Given the description of an element on the screen output the (x, y) to click on. 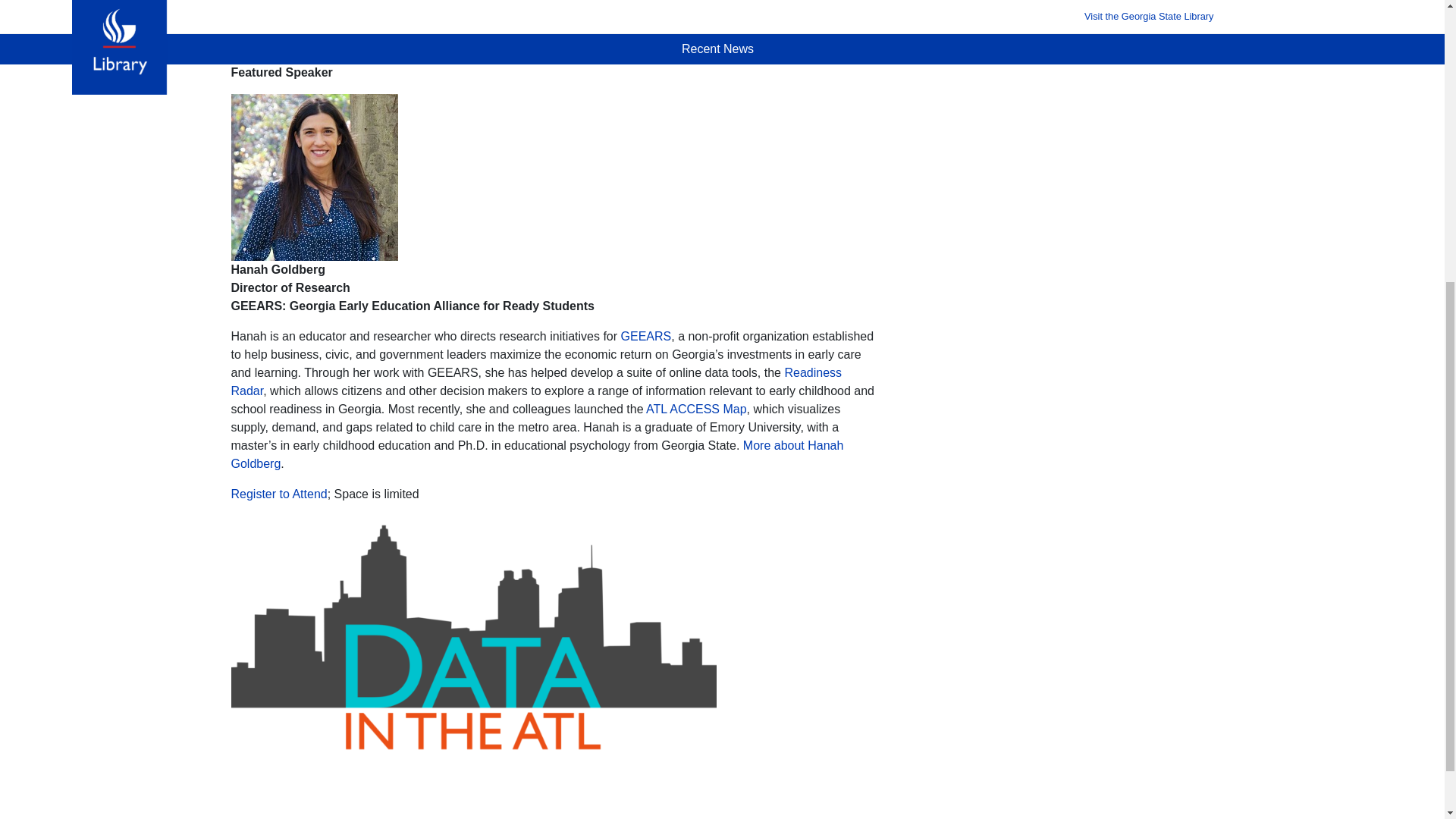
Readiness Radar (535, 381)
ATL ACCESS Map (696, 408)
More about Hanah Goldberg (536, 454)
GEEARS (646, 336)
Map it (287, 42)
Register to Attend (278, 493)
